Given the description of an element on the screen output the (x, y) to click on. 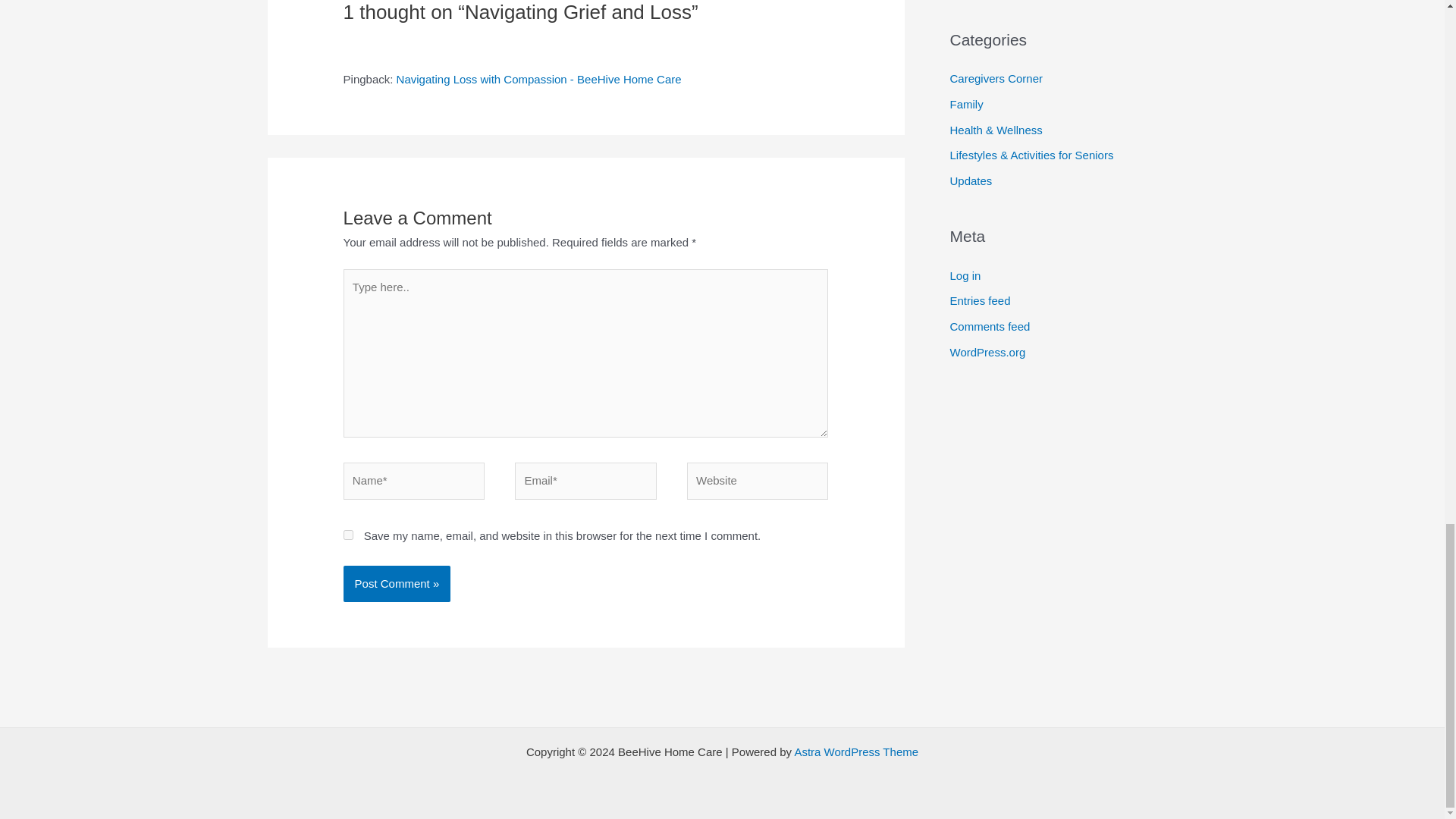
yes (348, 534)
Navigating Loss with Compassion - BeeHive Home Care (538, 78)
